Given the description of an element on the screen output the (x, y) to click on. 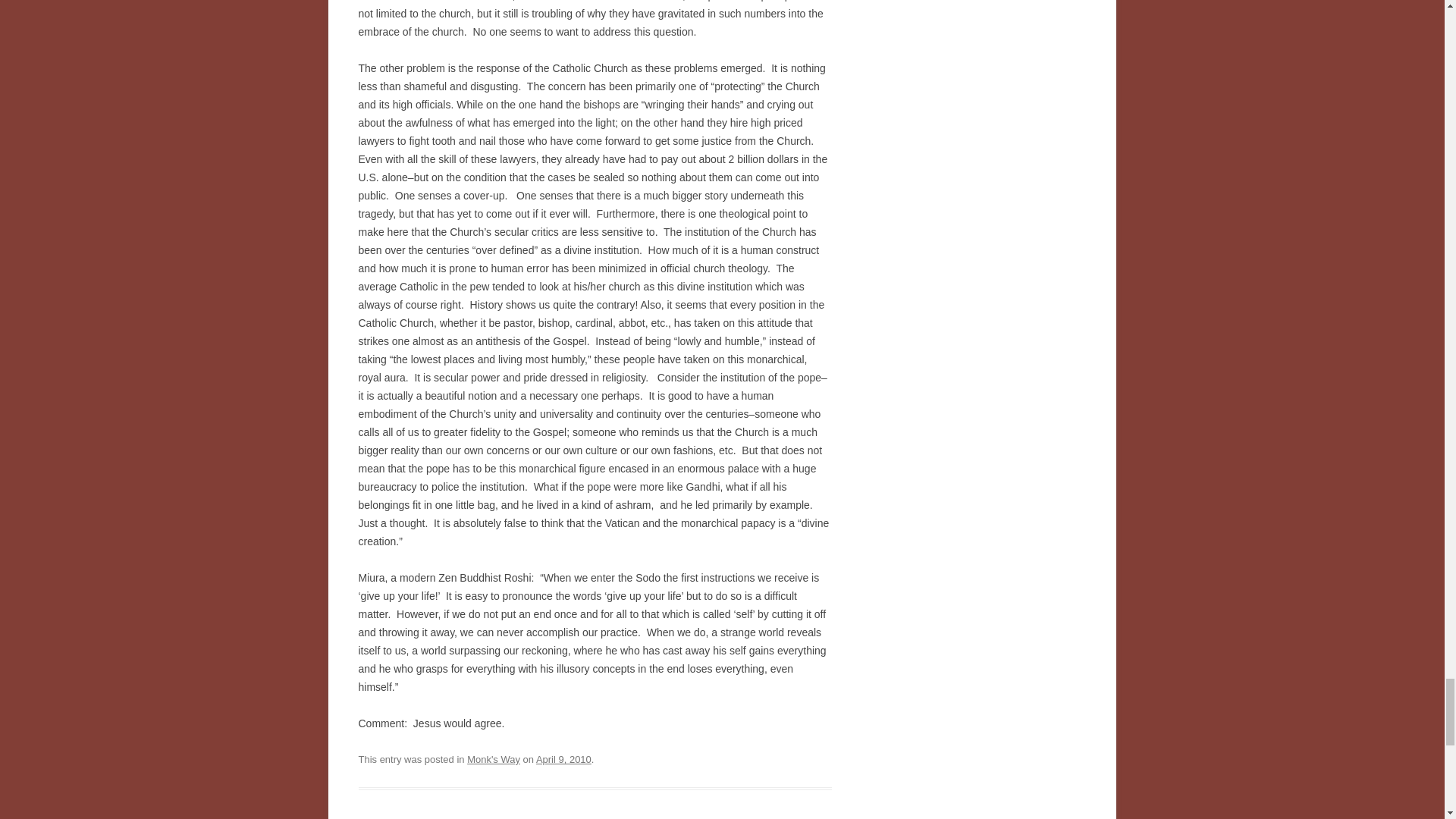
April 9, 2010 (563, 758)
Monk's Way (493, 758)
12:30 am (563, 758)
